Given the description of an element on the screen output the (x, y) to click on. 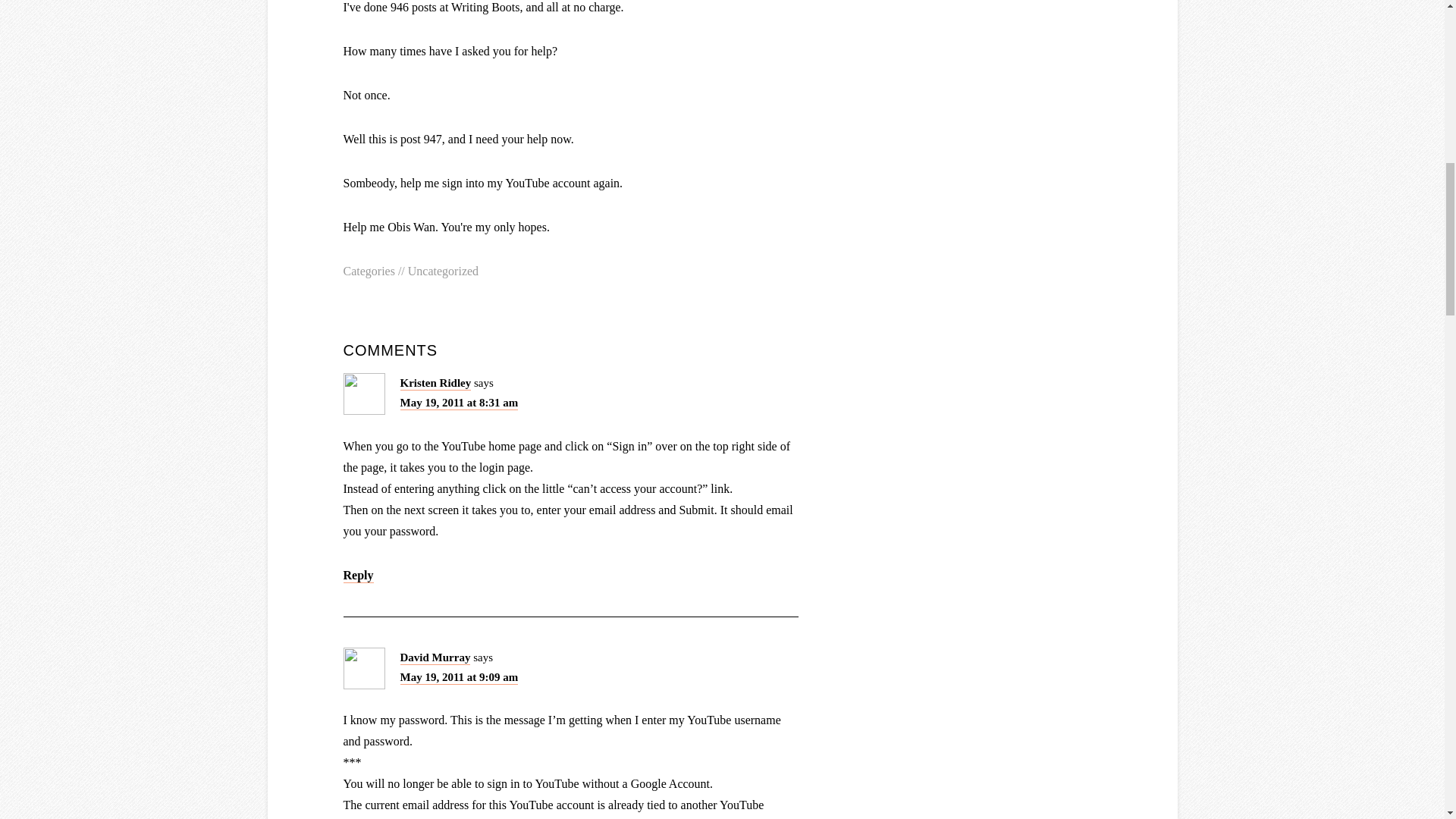
May 19, 2011 at 8:31 am (459, 403)
Uncategorized (443, 270)
Reply (357, 575)
May 19, 2011 at 9:09 am (459, 677)
Kristen Ridley (435, 383)
David Murray (435, 657)
